Given the description of an element on the screen output the (x, y) to click on. 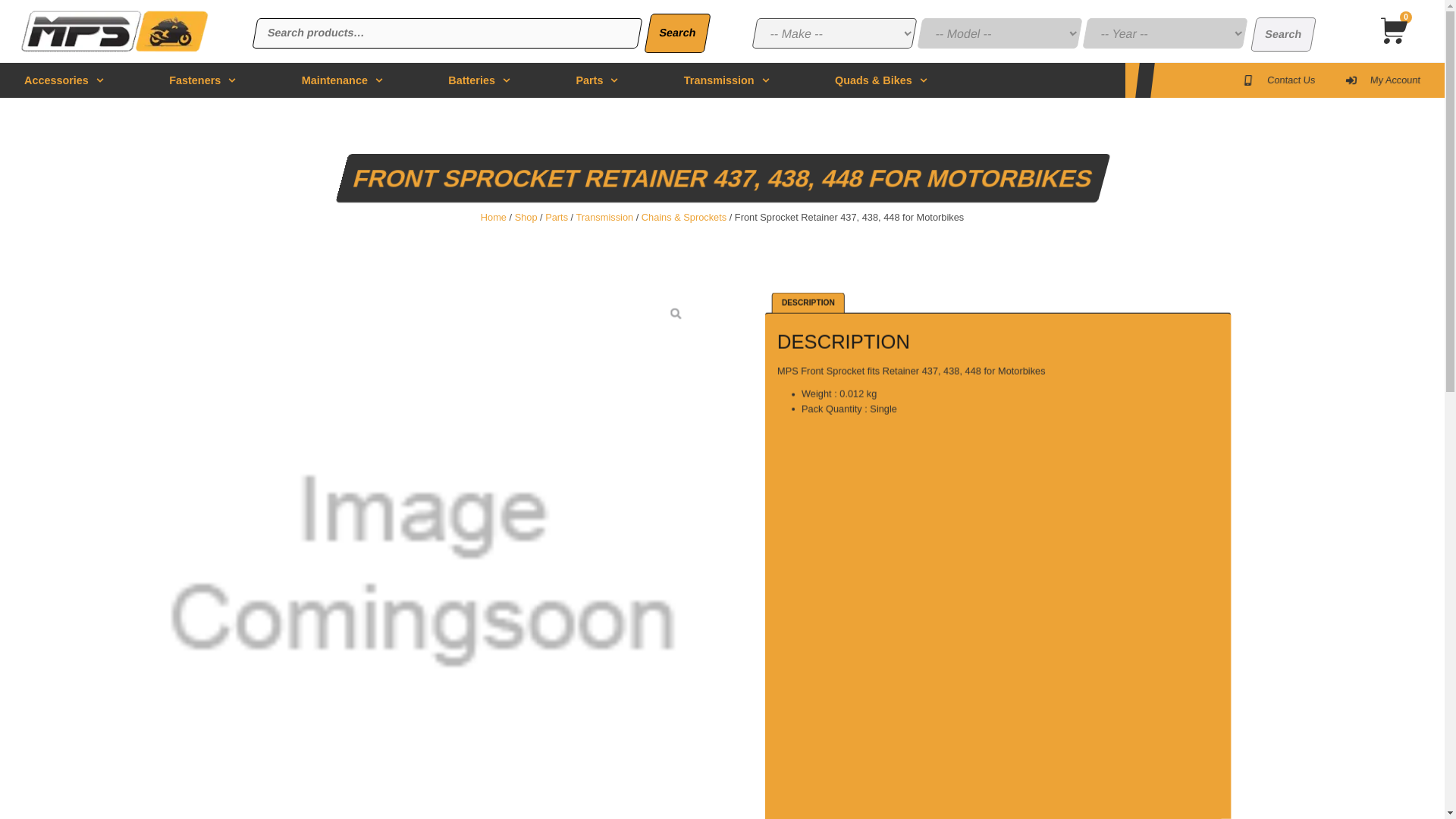
0 (1392, 32)
Fasteners (201, 80)
Maintenance (341, 80)
Search (1280, 34)
Accessories (63, 80)
Search (674, 33)
Search (1280, 34)
Front Sprocket Retainer 437, 438, 448 for Motorbikes (114, 31)
